Given the description of an element on the screen output the (x, y) to click on. 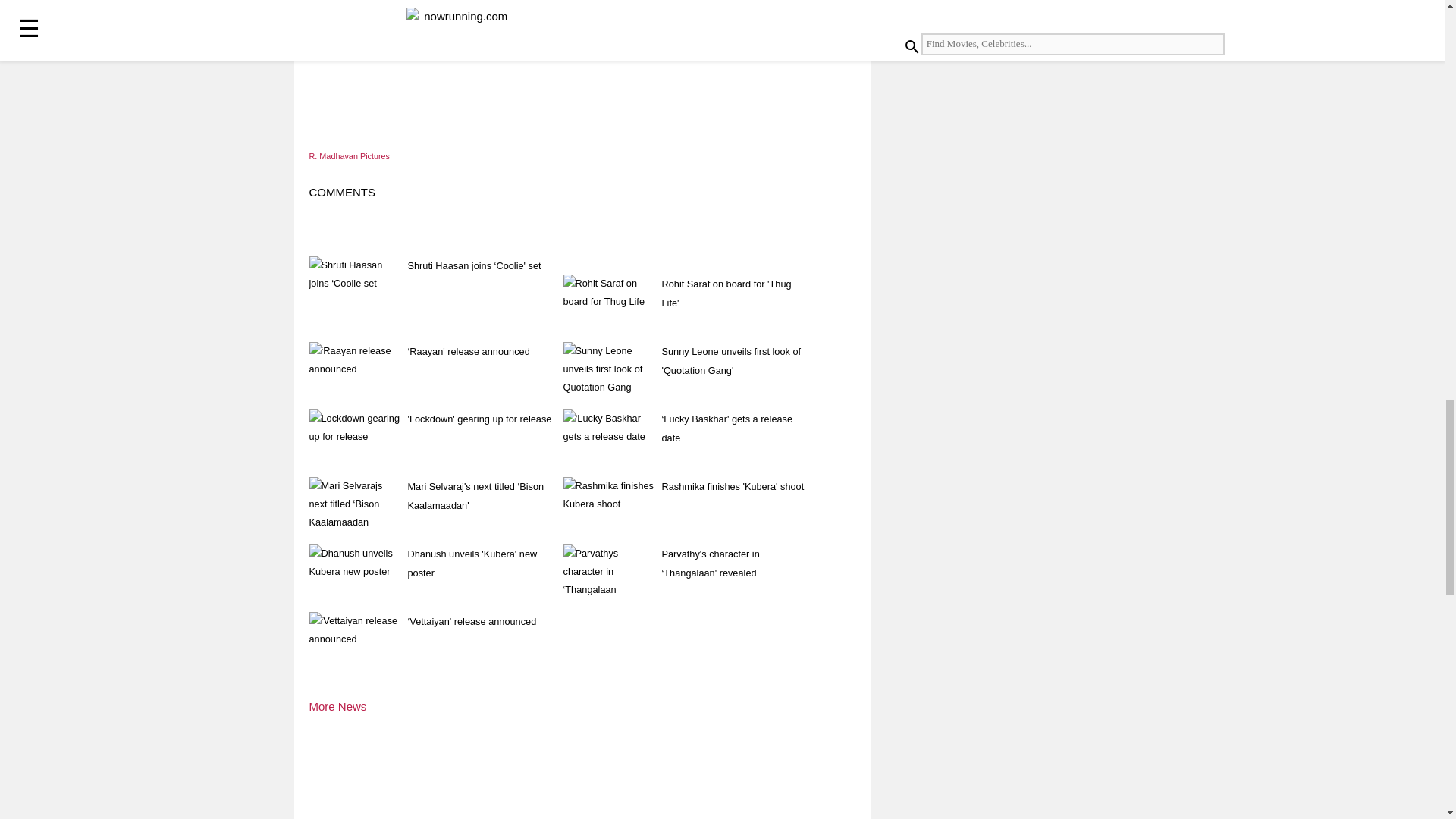
R. Madhavan Pictures (349, 155)
Rohit Saraf on board for 'Thug Life' (725, 293)
'Lockdown' gearing up for release (479, 419)
Sunny Leone unveils first look of 'Quotation Gang' (730, 360)
Dhanush unveils 'Kubera' new poster (472, 562)
More News (337, 706)
COMMENTS (341, 192)
Rashmika finishes 'Kubera' shoot (732, 486)
